Given the description of an element on the screen output the (x, y) to click on. 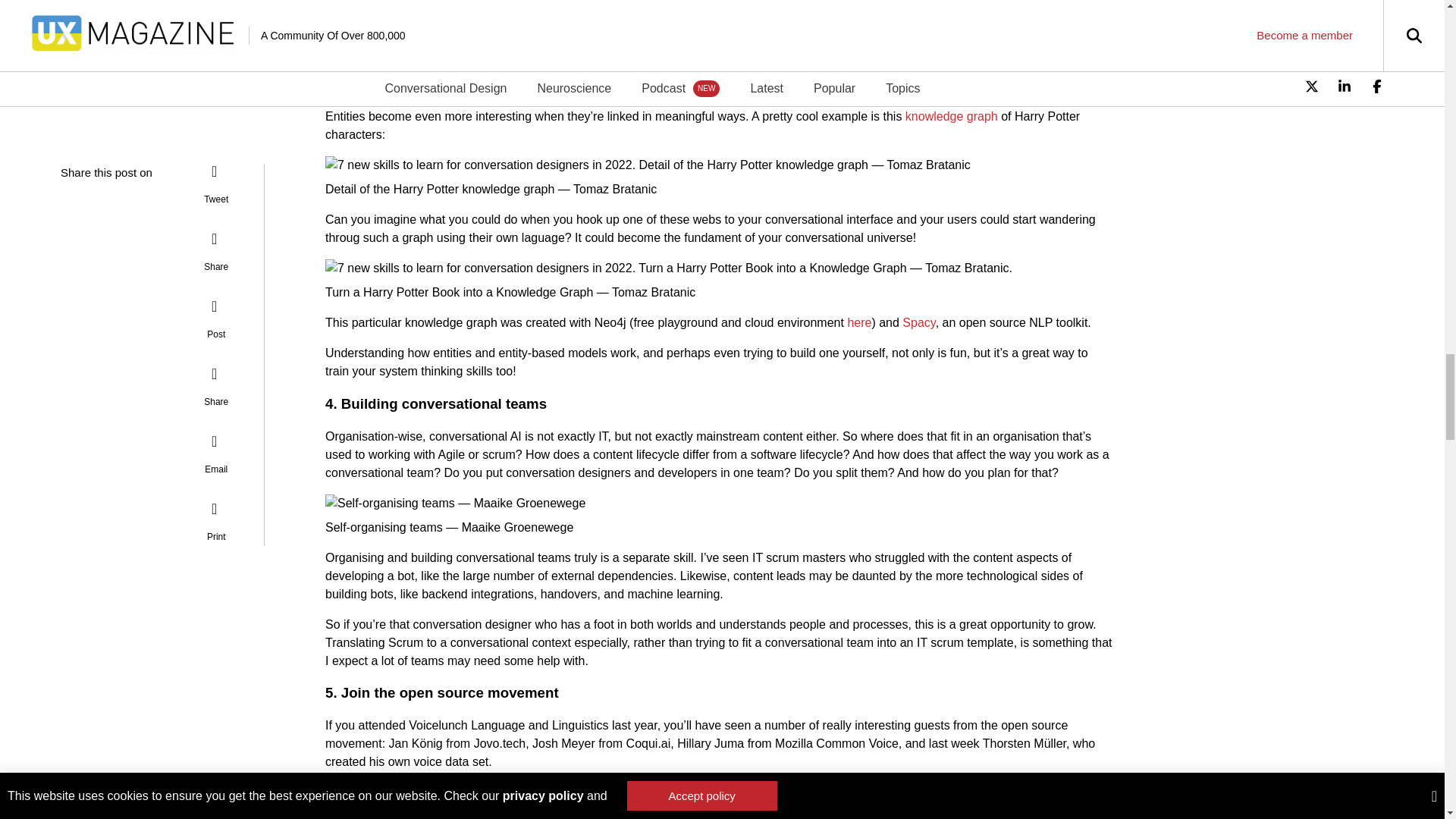
Tomaz Bratanic (614, 188)
knowledge graph (951, 115)
here (858, 322)
Spacy (918, 322)
